Given the description of an element on the screen output the (x, y) to click on. 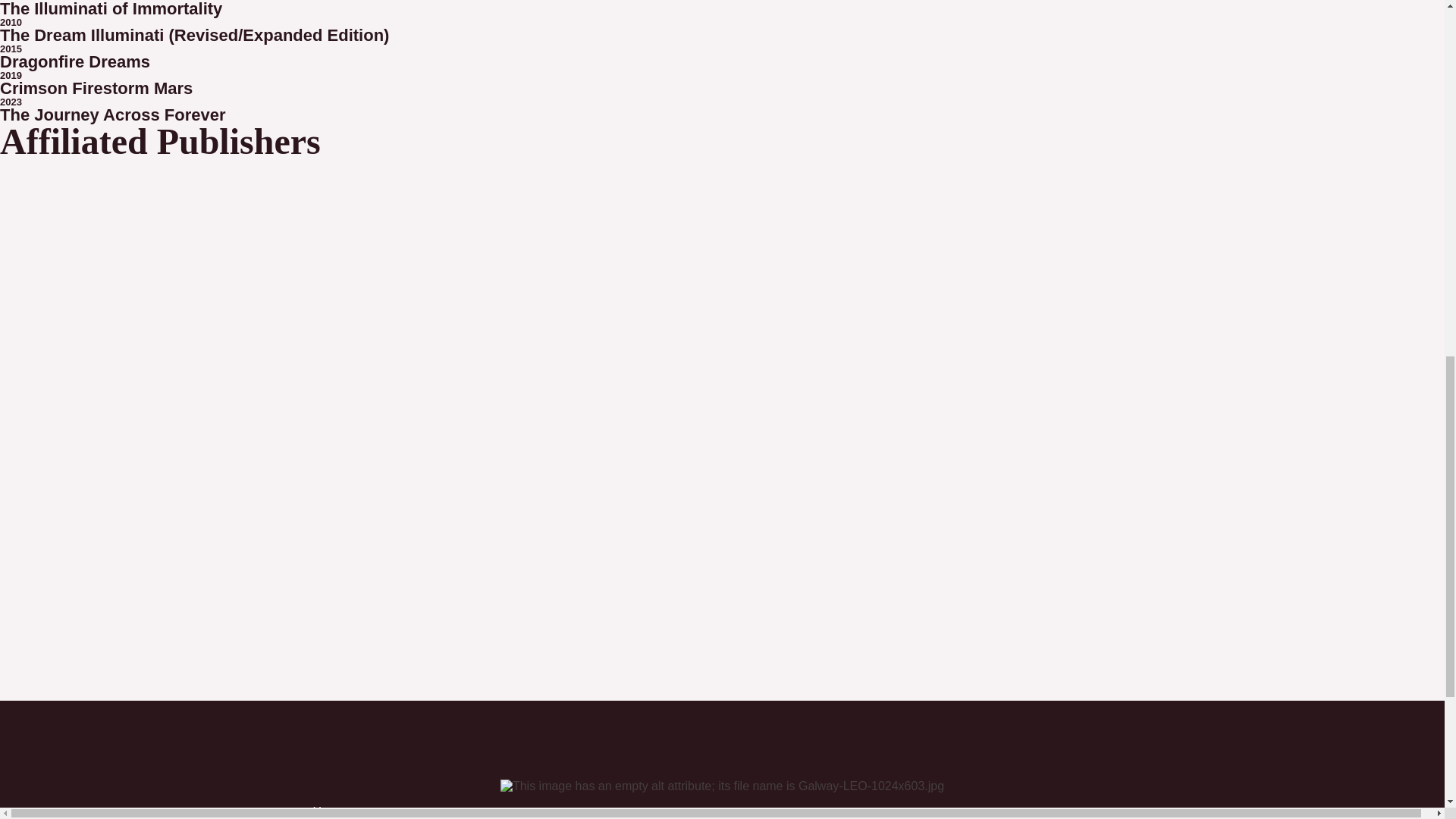
Home (736, 812)
